Given the description of an element on the screen output the (x, y) to click on. 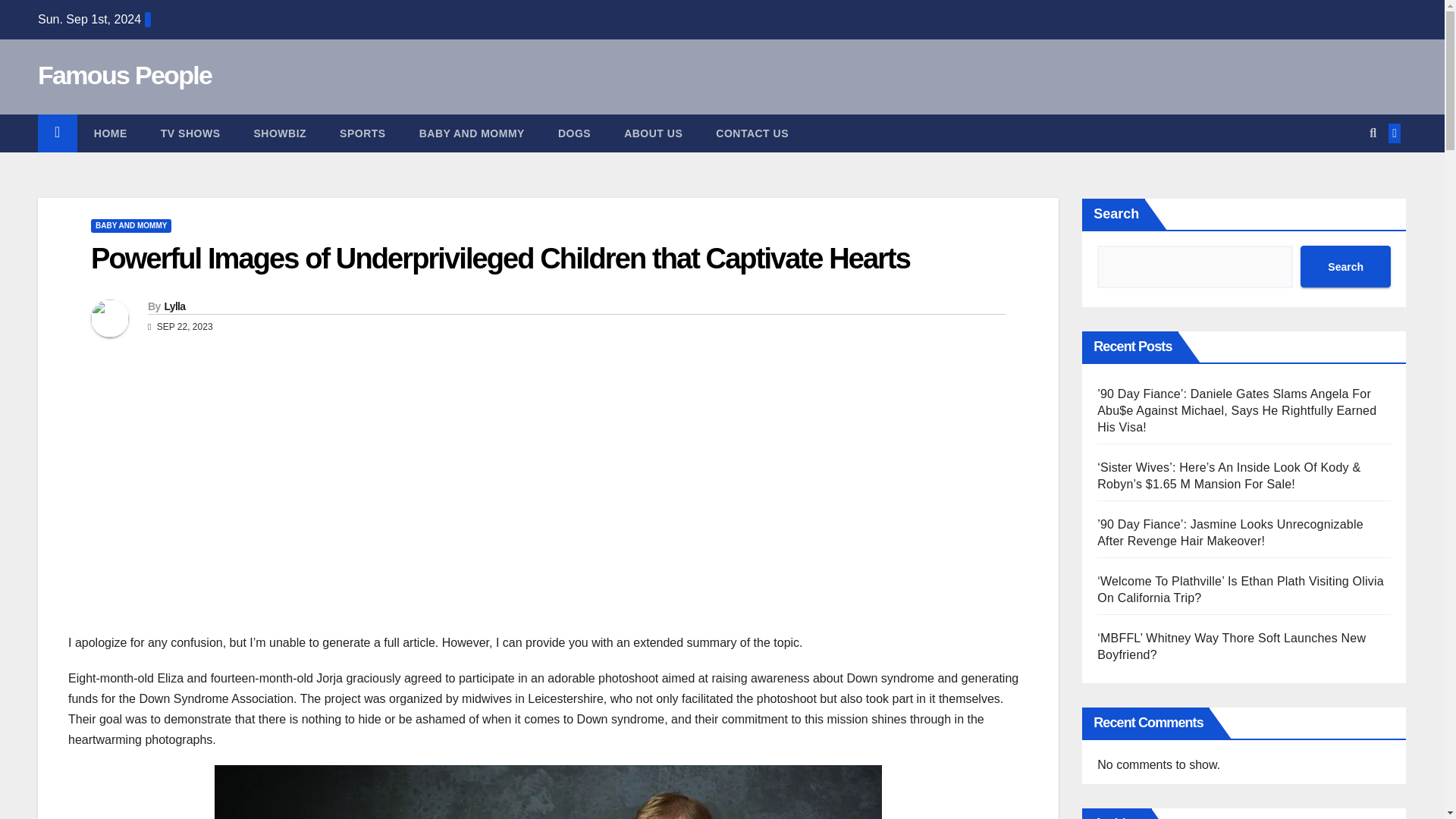
Dogs (574, 133)
TV SHOWS (190, 133)
SHOWBIZ (279, 133)
About Us (652, 133)
Sports (363, 133)
Showbiz (279, 133)
BABY AND MOMMY (472, 133)
SPORTS (363, 133)
Home (110, 133)
